Given the description of an element on the screen output the (x, y) to click on. 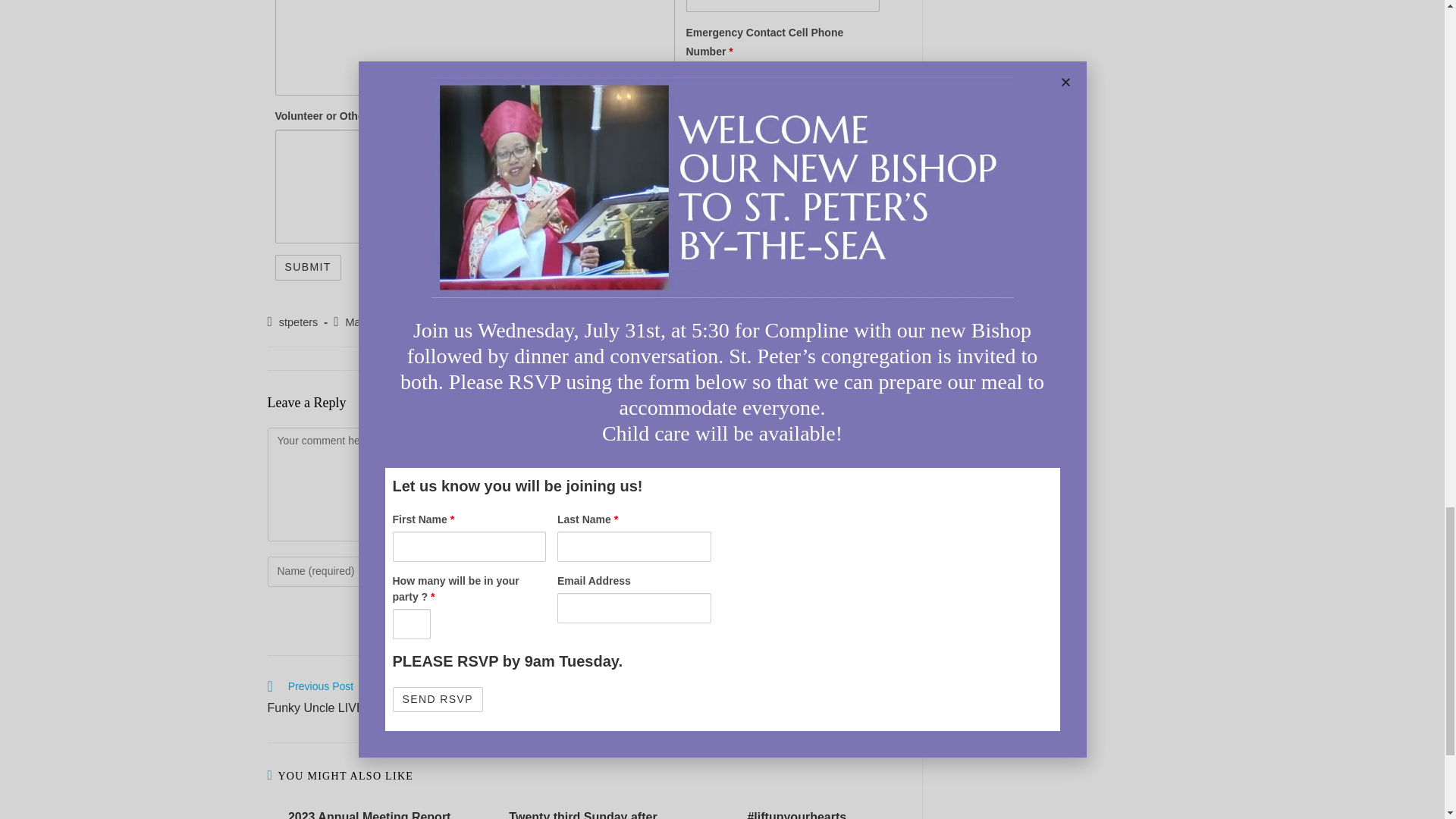
Posts by stpeters (298, 322)
Post Comment (840, 616)
Submit (307, 267)
